Given the description of an element on the screen output the (x, y) to click on. 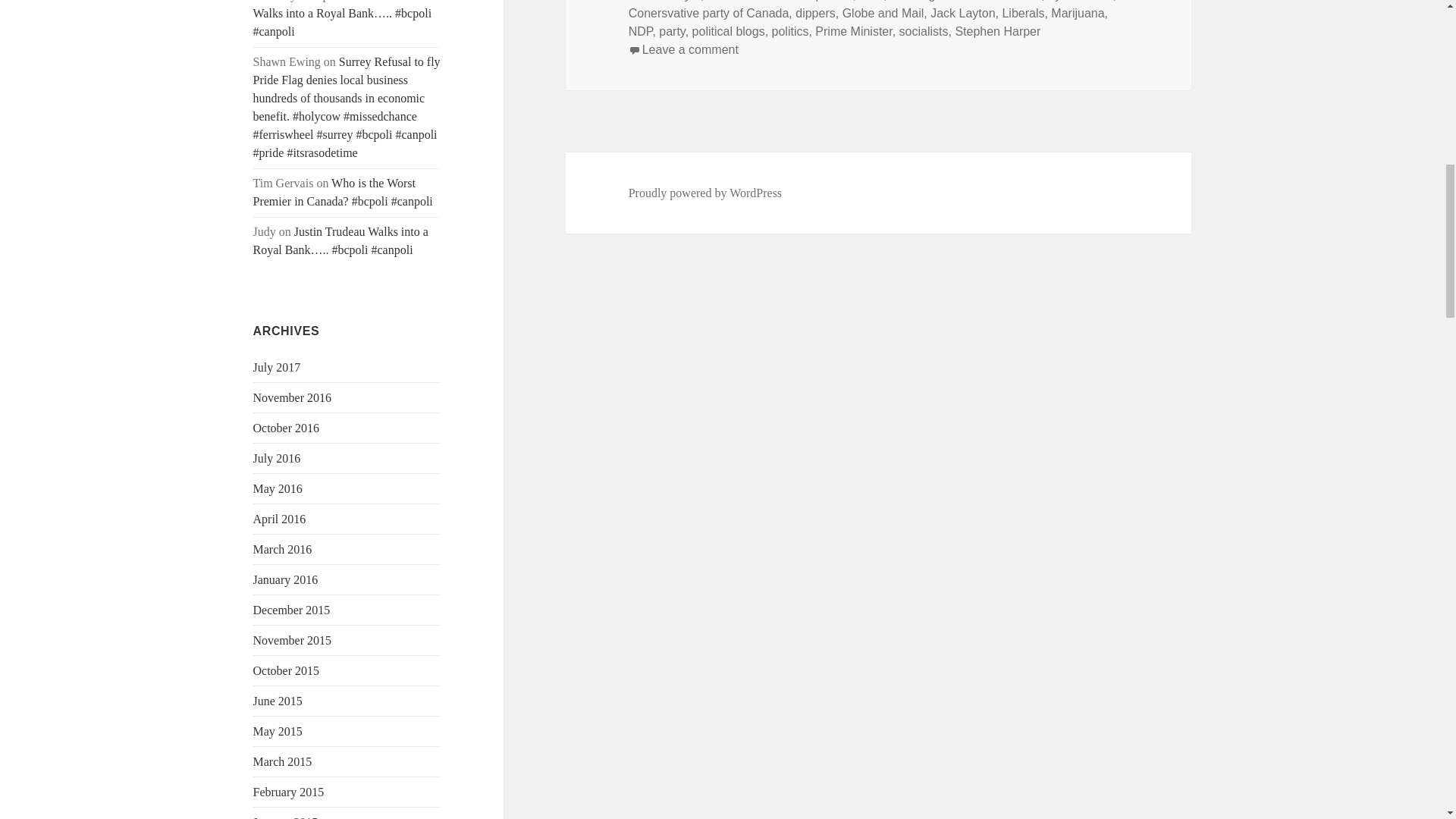
May 2015 (277, 730)
January 2016 (285, 579)
July 2017 (277, 367)
July 2016 (277, 458)
April 2016 (279, 518)
October 2016 (286, 427)
February 2015 (288, 791)
November 2015 (292, 640)
March 2015 (283, 761)
October 2015 (286, 670)
May 2016 (277, 488)
December 2015 (291, 609)
March 2016 (283, 549)
June 2015 (277, 700)
November 2016 (292, 397)
